Given the description of an element on the screen output the (x, y) to click on. 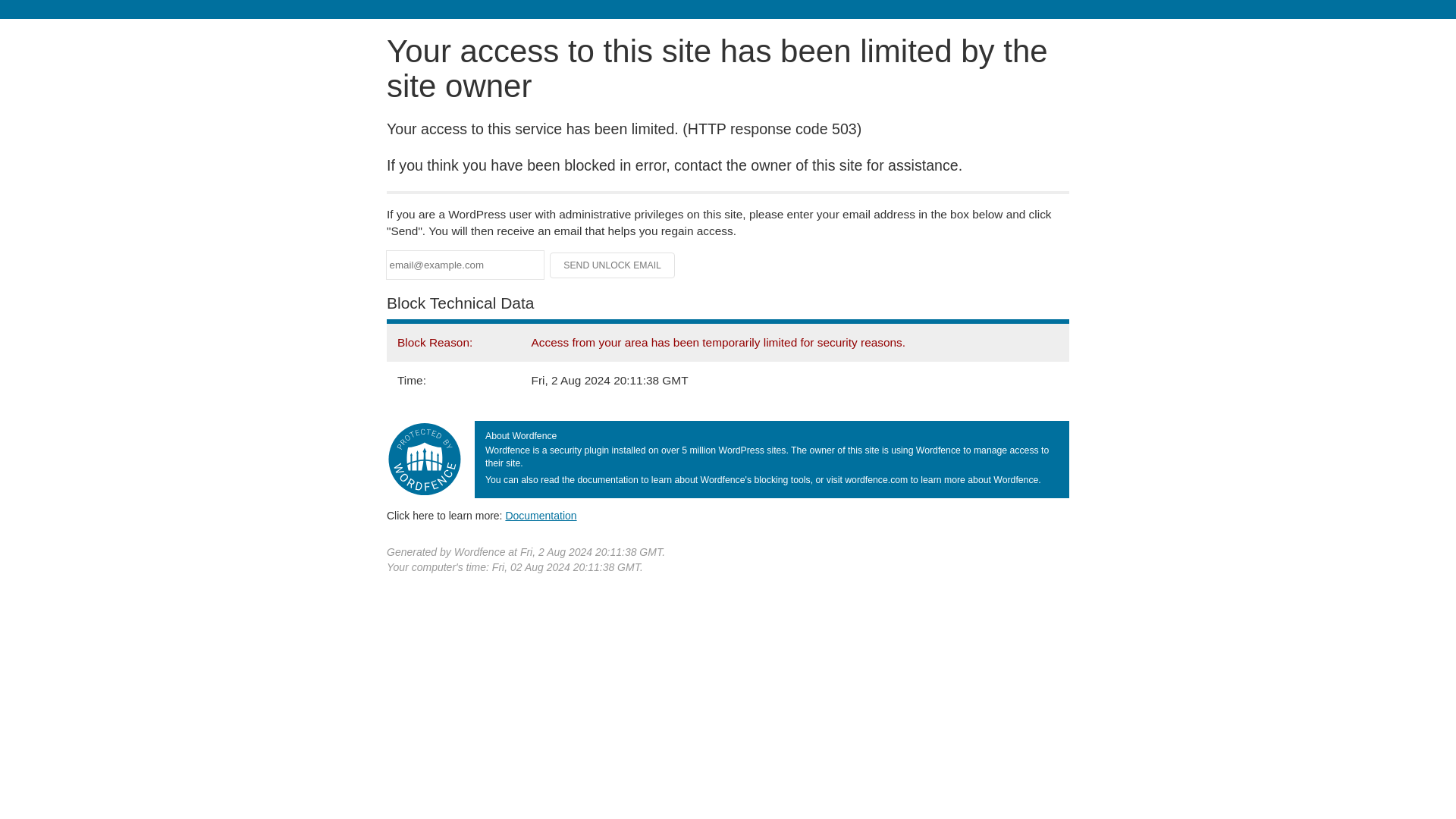
Send Unlock Email (612, 265)
Documentation (540, 515)
Send Unlock Email (612, 265)
